Given the description of an element on the screen output the (x, y) to click on. 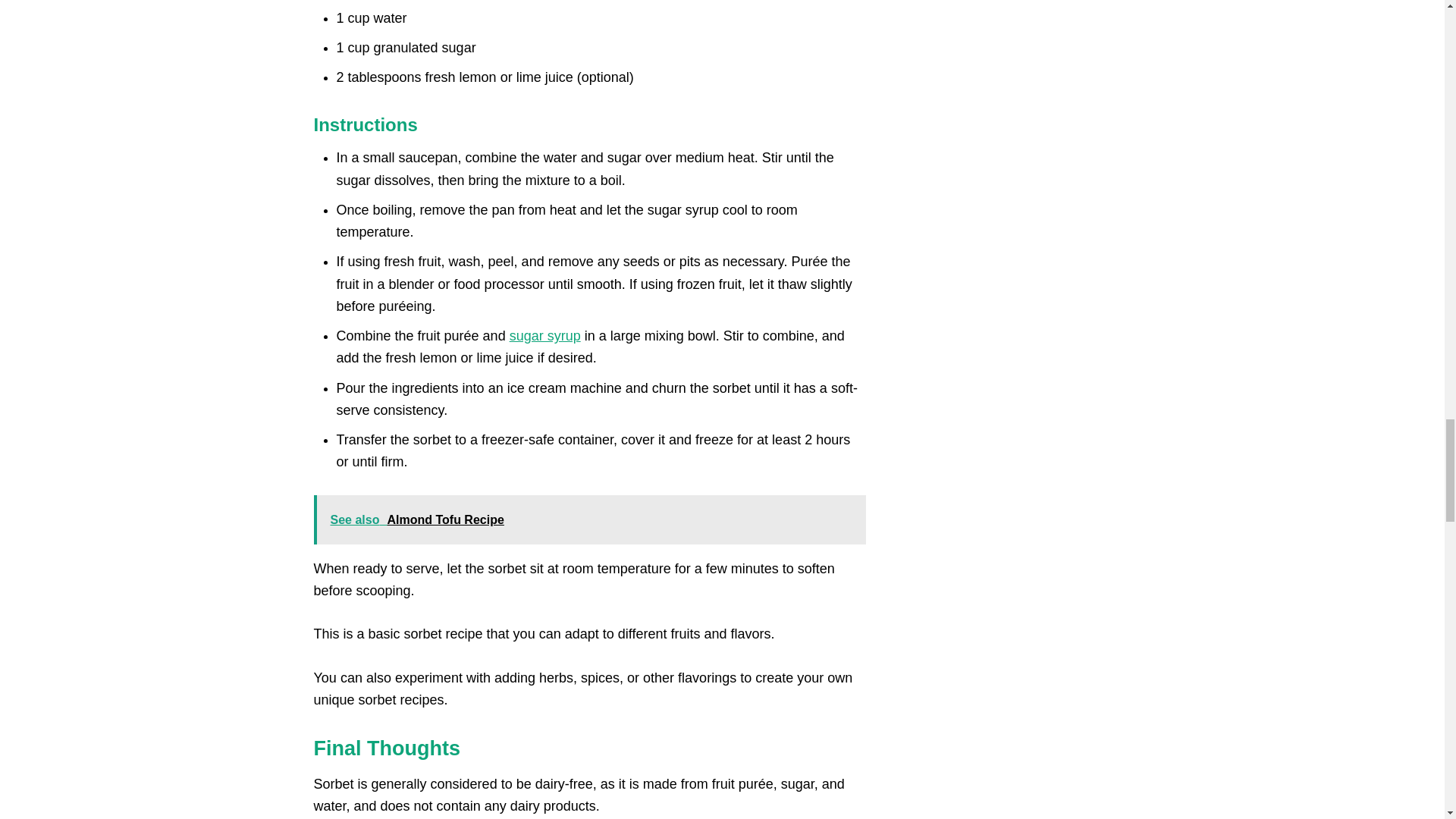
See also  Almond Tofu Recipe (590, 519)
sugar syrup (544, 335)
